Given the description of an element on the screen output the (x, y) to click on. 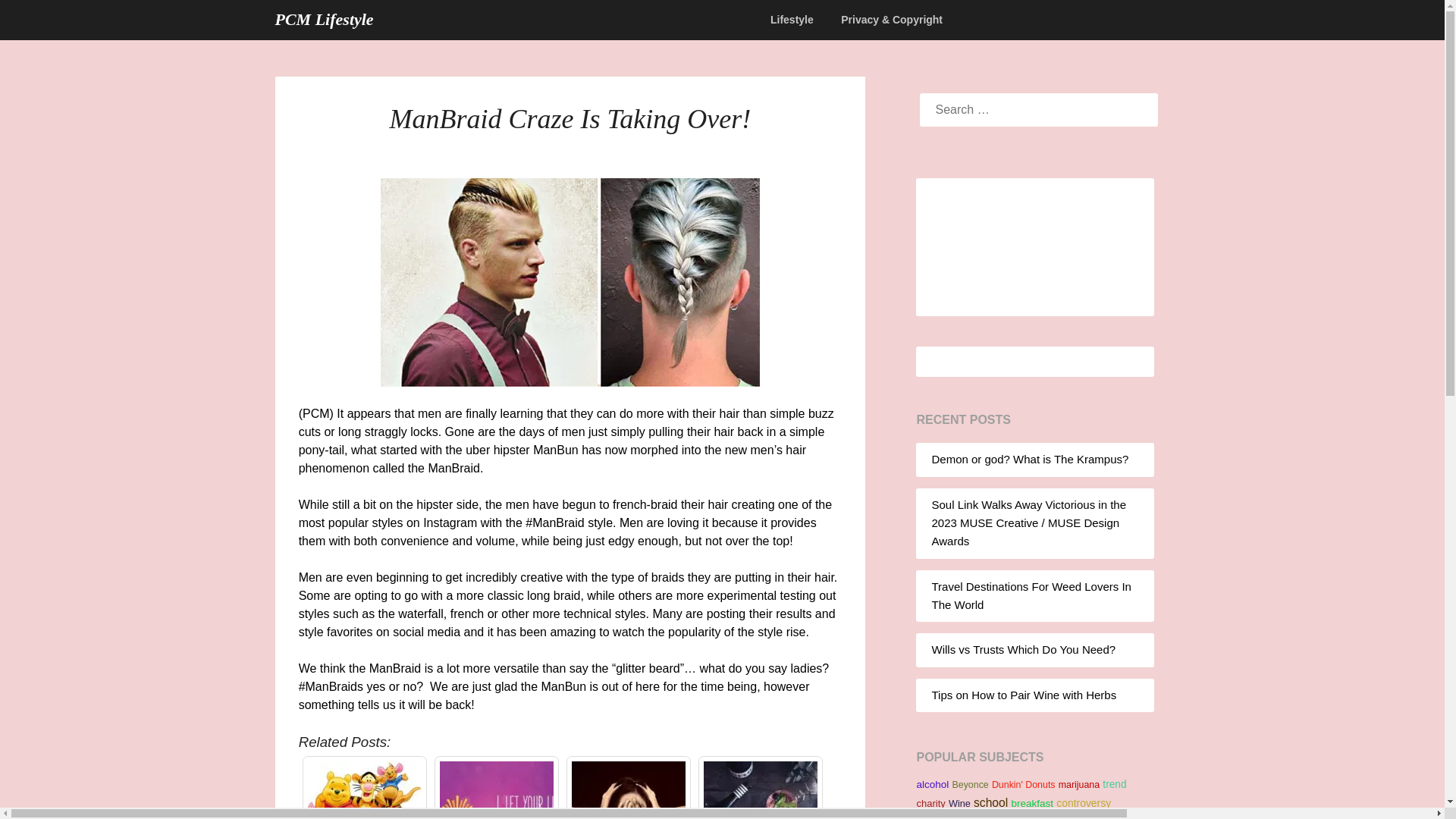
Toys (981, 817)
Travel Destinations For Weed Lovers In The World (1031, 594)
Demon or god? What is The Krampus? (1029, 459)
autism (1010, 816)
Search (38, 22)
Tips on How to Pair Wine with Herbs (759, 790)
marijuana (1078, 784)
Texting (1043, 817)
Herbs That Help Anxiety And Stress (628, 790)
Wills vs Trusts Which Do You Need? (1023, 649)
